Given the description of an element on the screen output the (x, y) to click on. 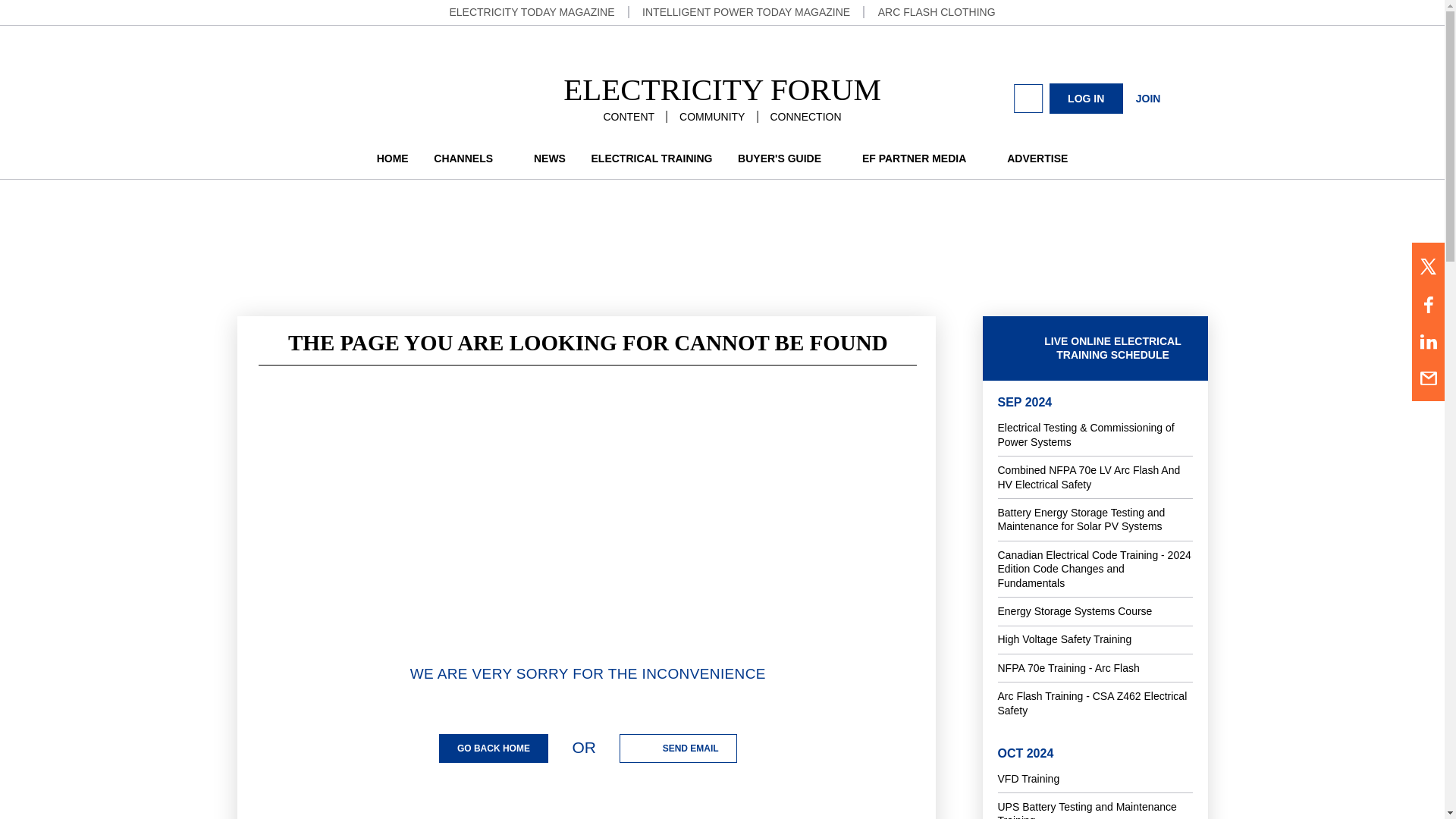
JOIN (1147, 98)
CHANNELS (470, 158)
ELECTRICITY TODAY MAGAZINE (531, 11)
EF PARTNER MEDIA (921, 158)
ARC FLASH CLOTHING (936, 11)
NEWS (550, 158)
LOG IN (1085, 98)
INTELLIGENT POWER TODAY MAGAZINE (746, 11)
ELECTRICAL TRAINING (652, 158)
HOME (393, 158)
